Given the description of an element on the screen output the (x, y) to click on. 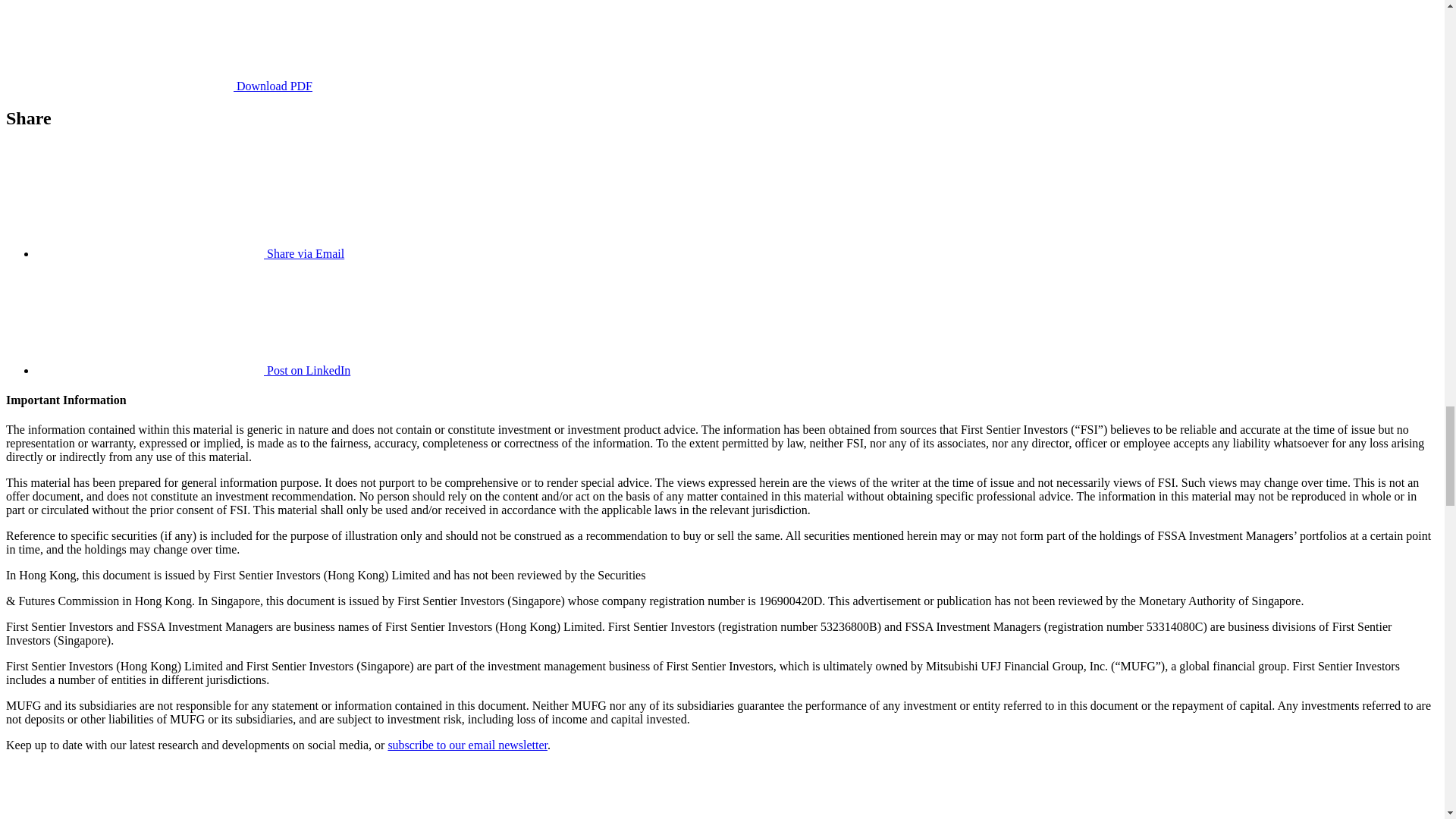
Download PDF (159, 85)
Share via Email (189, 253)
Share via Email (189, 253)
Post on LinkedIn (193, 369)
subscribe to our email newsletter (467, 744)
Post on LinkedIn (193, 369)
